Given the description of an element on the screen output the (x, y) to click on. 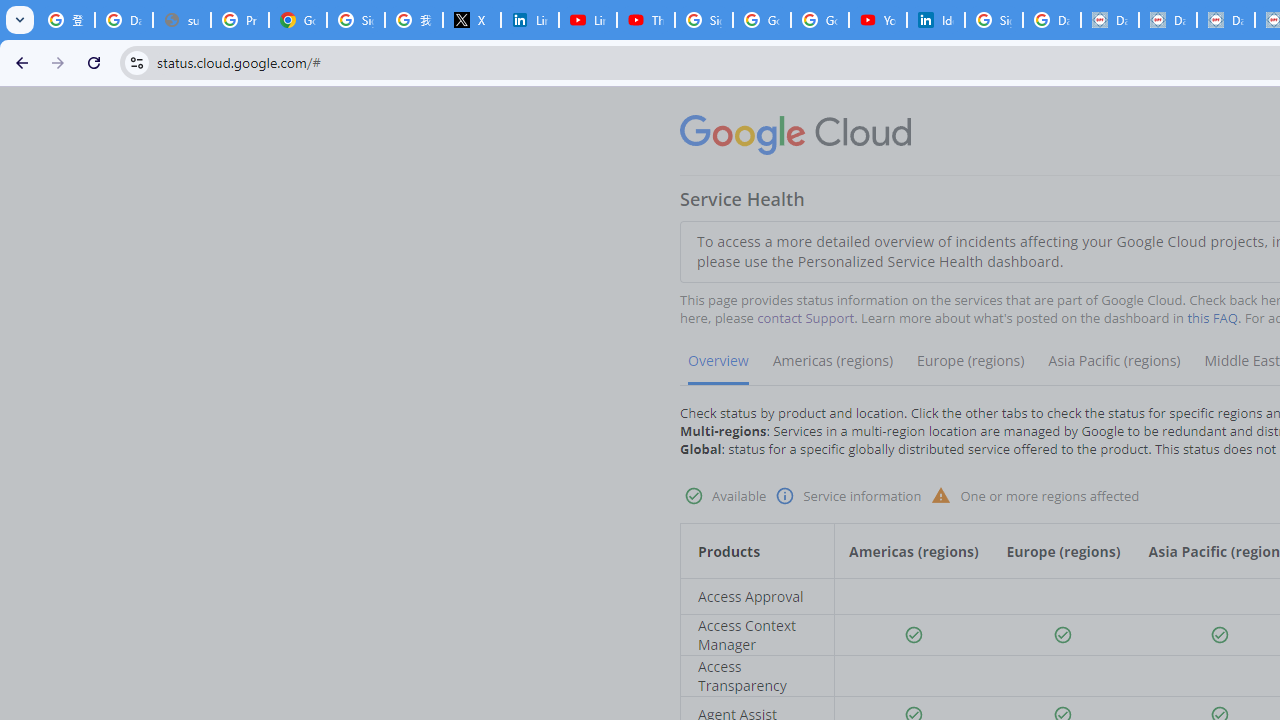
contact Support (805, 318)
Identity verification via Persona | LinkedIn Help (936, 20)
Warning status (941, 494)
Sign in - Google Accounts (703, 20)
Informational status (784, 496)
LinkedIn Privacy Policy (529, 20)
Sign in - Google Accounts (993, 20)
